Given the description of an element on the screen output the (x, y) to click on. 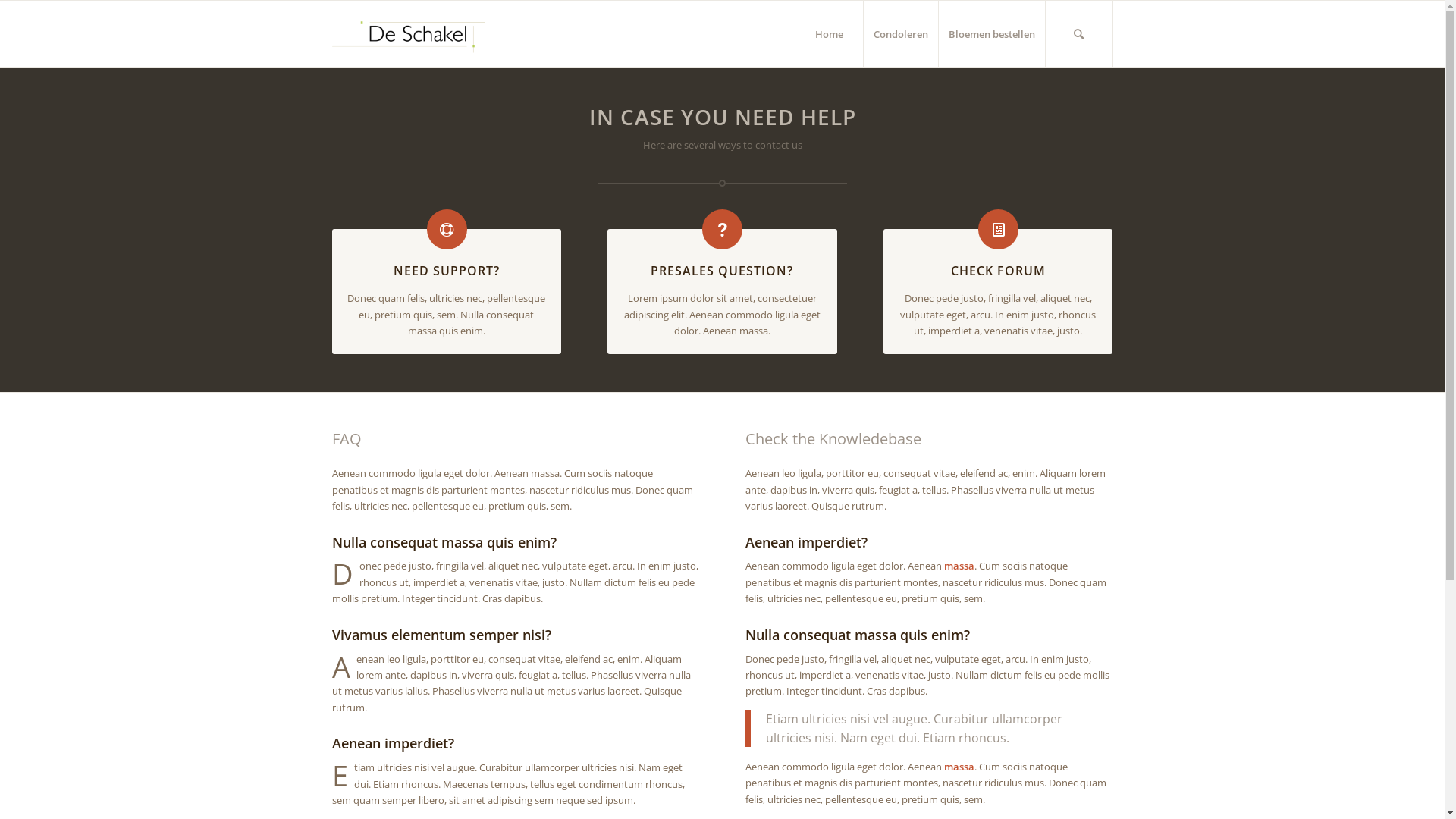
Bloemen bestellen Element type: text (990, 33)
Condoleren Element type: text (900, 33)
Home Element type: text (828, 33)
